Given the description of an element on the screen output the (x, y) to click on. 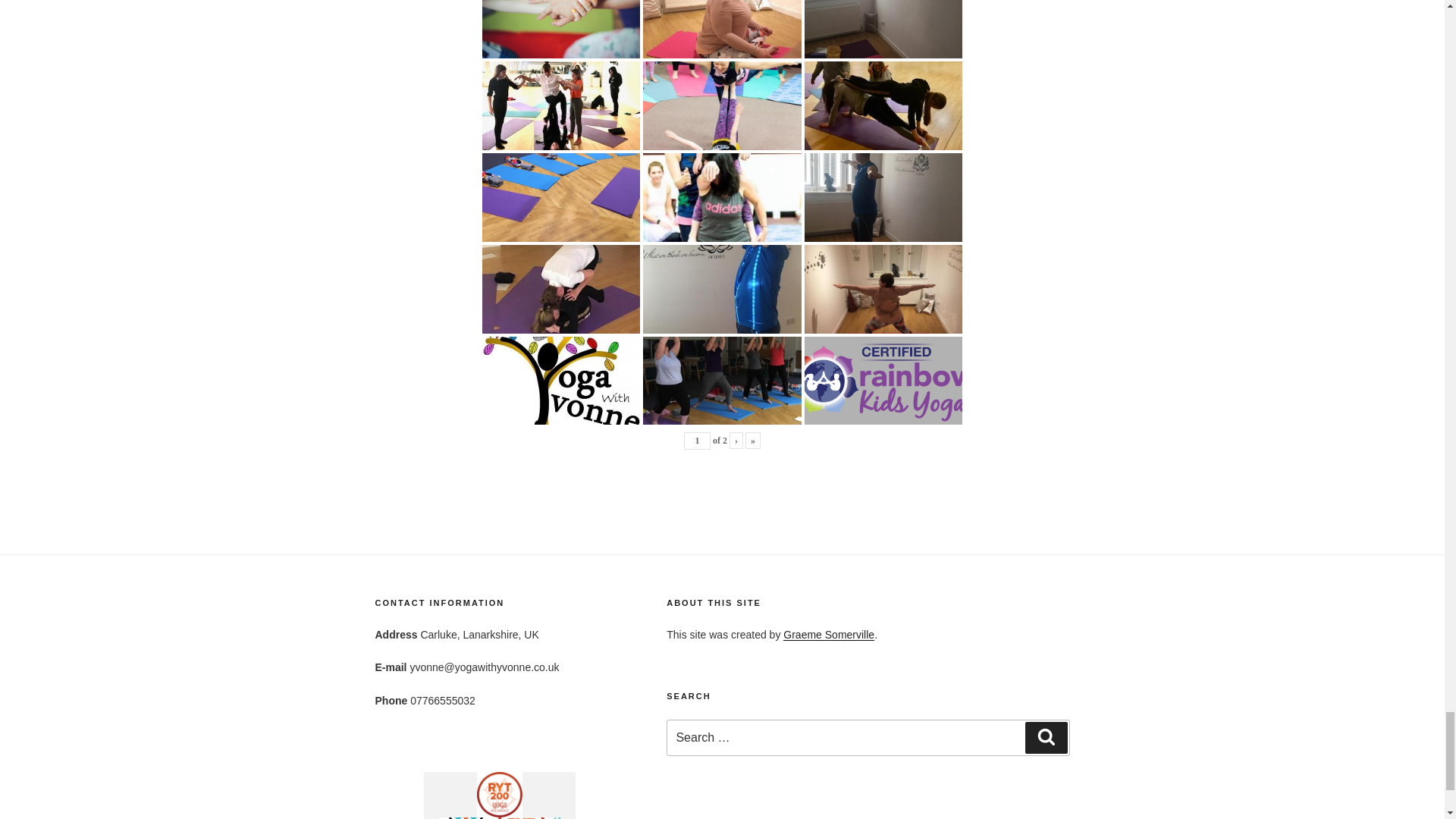
1 (697, 440)
Studio1 (722, 14)
StudioYvonne8 (560, 14)
